Given the description of an element on the screen output the (x, y) to click on. 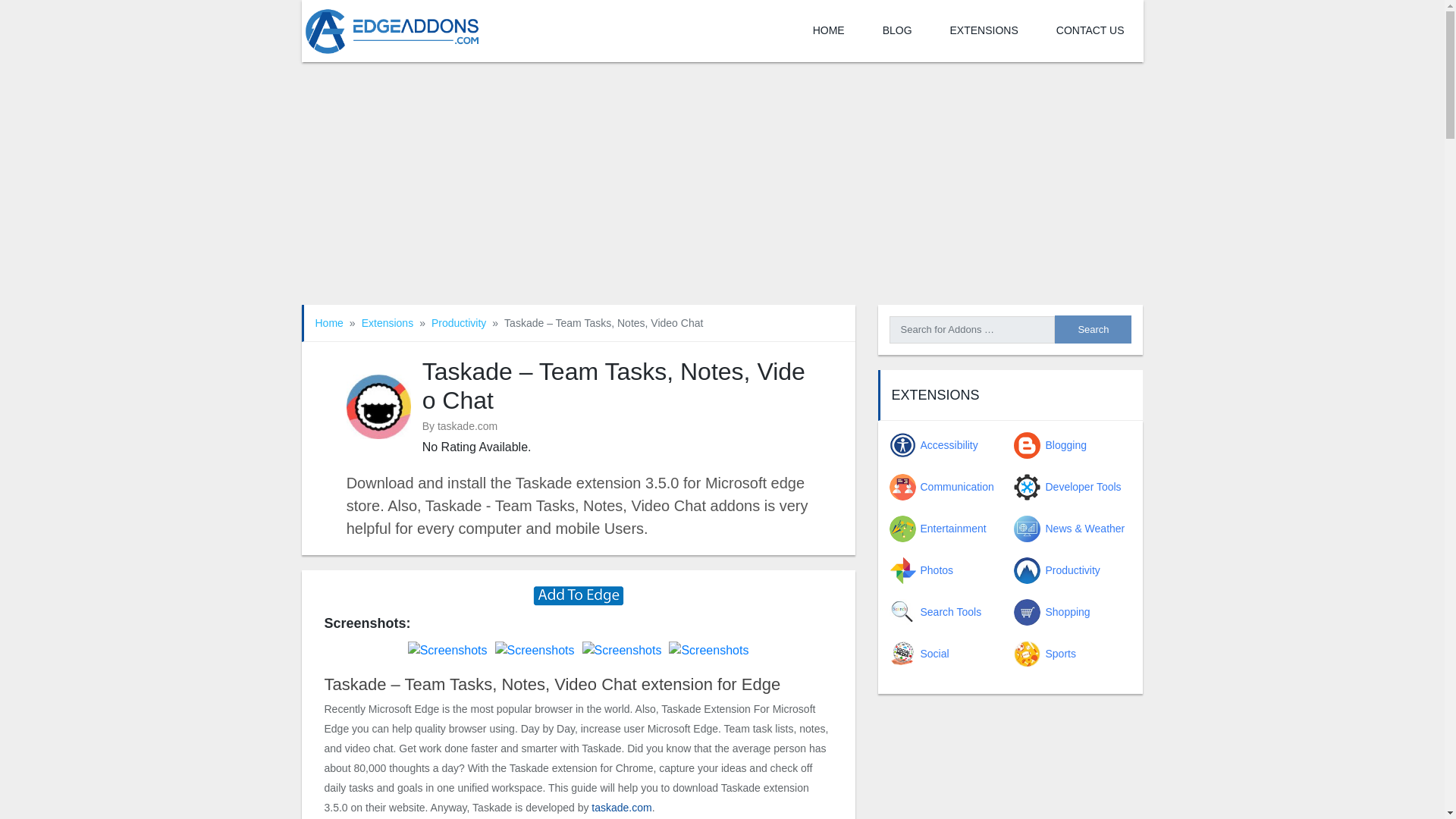
Extensions (387, 322)
Search (1092, 329)
Search (1092, 329)
CONTACT US (1089, 31)
EXTENSIONS (983, 31)
Productivity (458, 322)
taskade.com (620, 807)
BLOG (897, 31)
HOME (828, 31)
Home (329, 322)
